Given the description of an element on the screen output the (x, y) to click on. 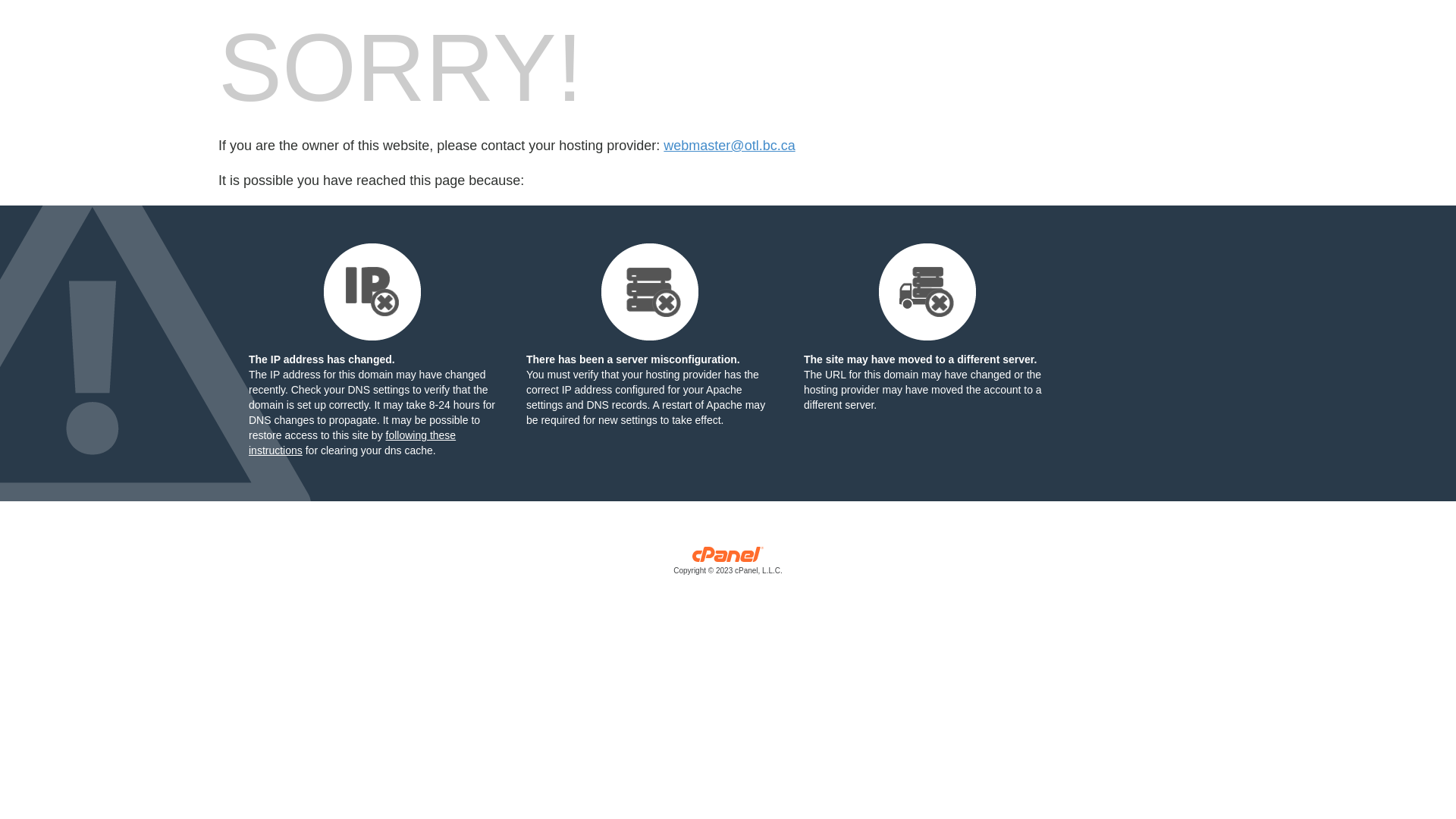
webmaster@otl.bc.ca Element type: text (728, 145)
following these instructions Element type: text (351, 442)
